Given the description of an element on the screen output the (x, y) to click on. 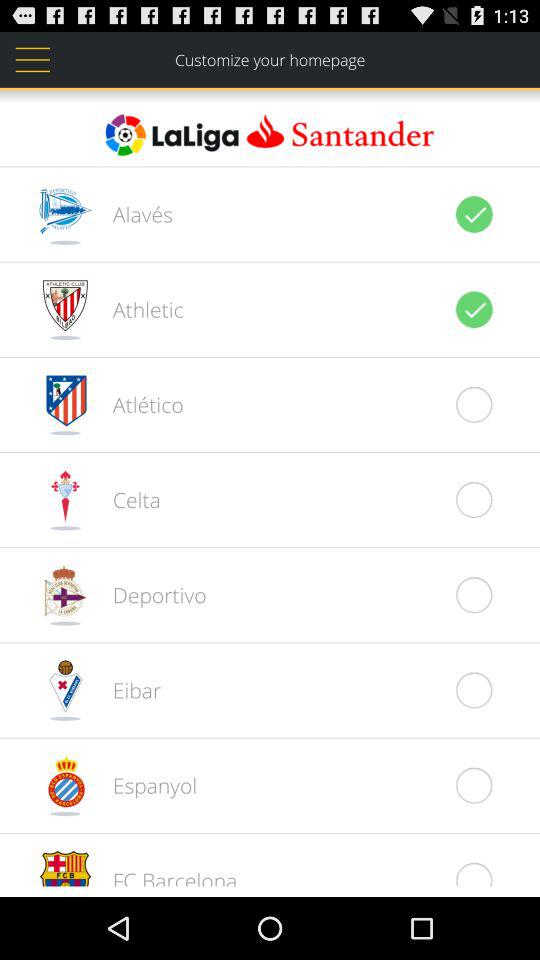
turn on celta icon (125, 499)
